Given the description of an element on the screen output the (x, y) to click on. 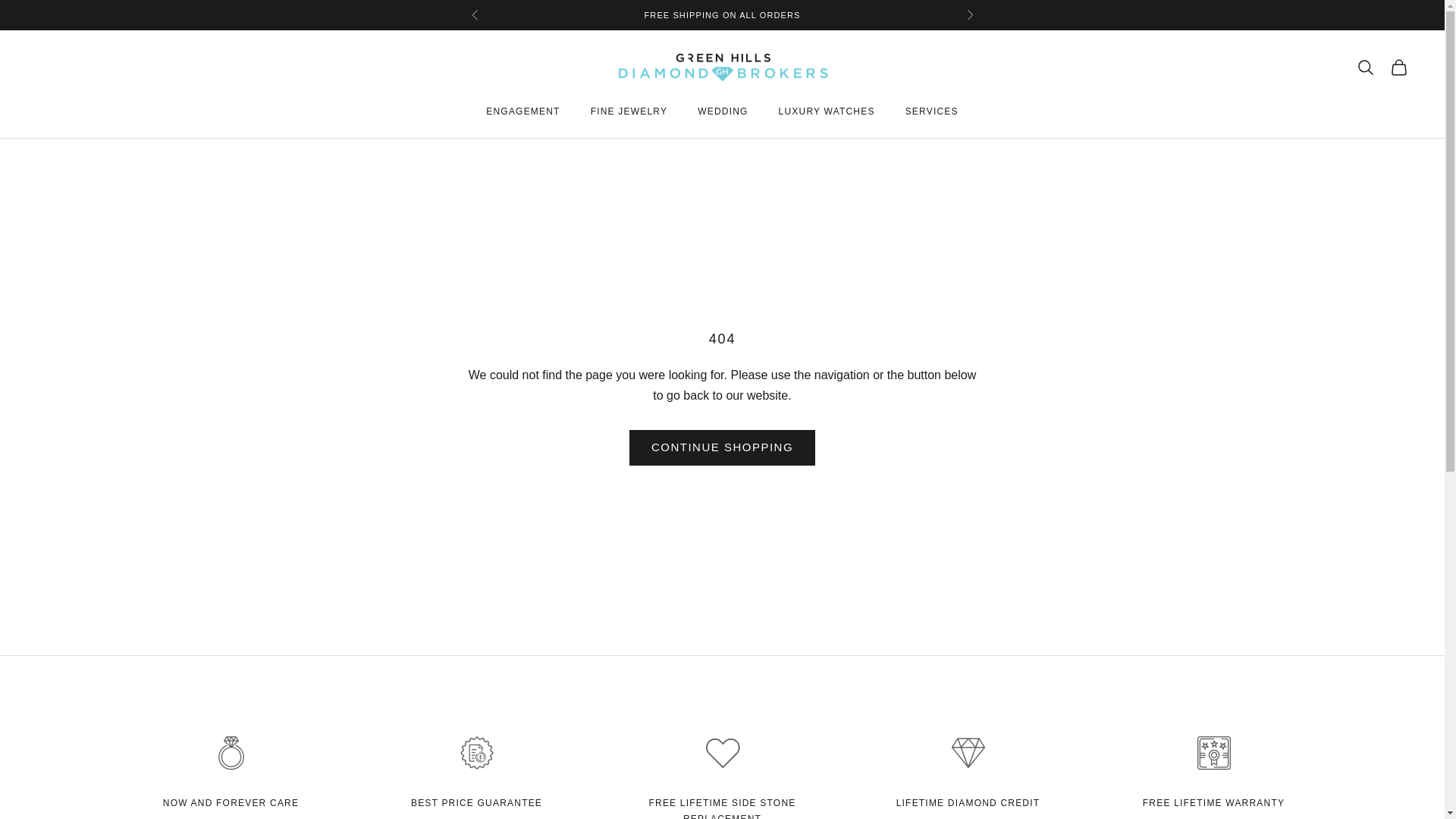
LUXURY WATCHES (826, 111)
Benefits (1213, 802)
Benefits (968, 802)
Benefits (230, 802)
Benefits (722, 808)
Benefits (475, 802)
